Given the description of an element on the screen output the (x, y) to click on. 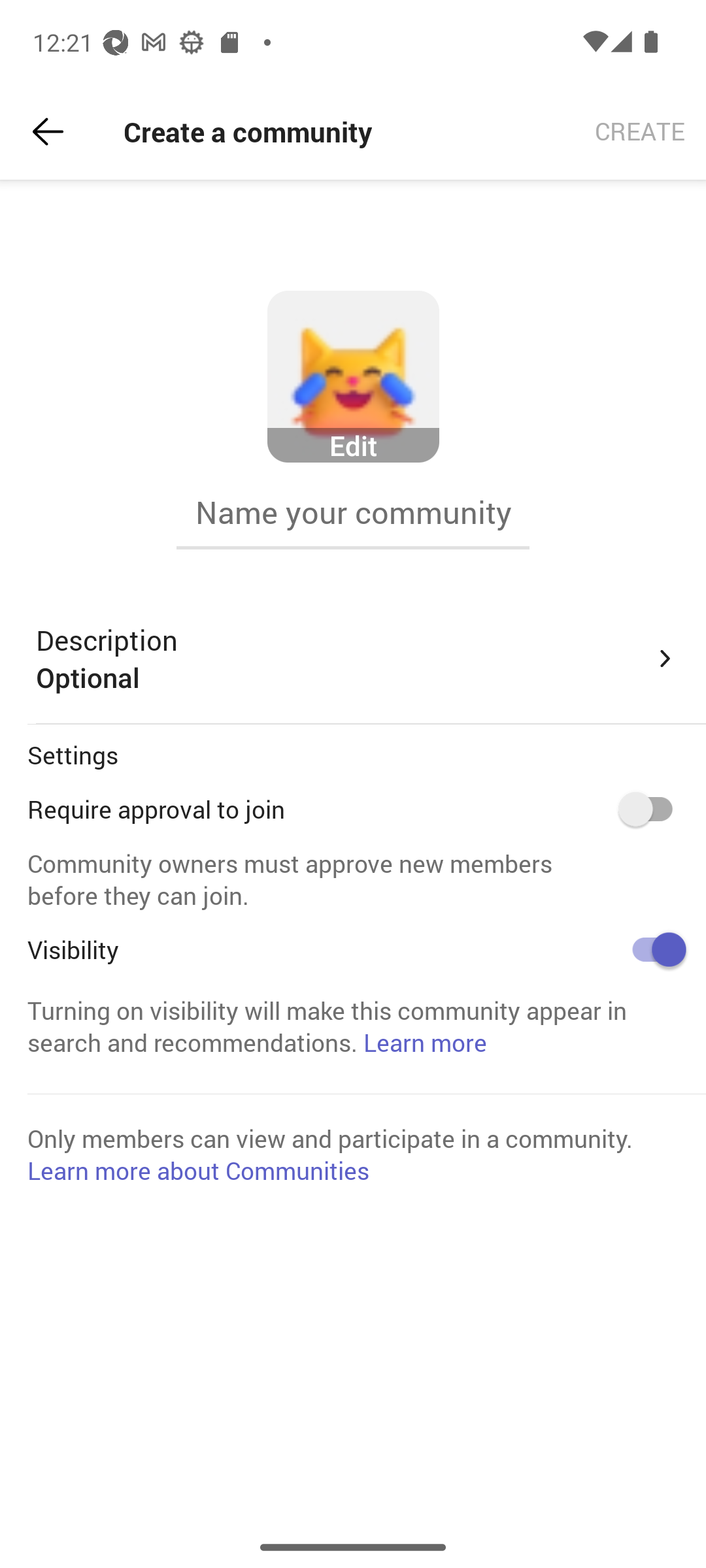
Back (48, 131)
CREATE (639, 131)
Edit community image Edit (353, 377)
Name your community (352, 511)
Description Optional (357, 659)
Require approval to join (652, 808)
Visibility (652, 949)
